Given the description of an element on the screen output the (x, y) to click on. 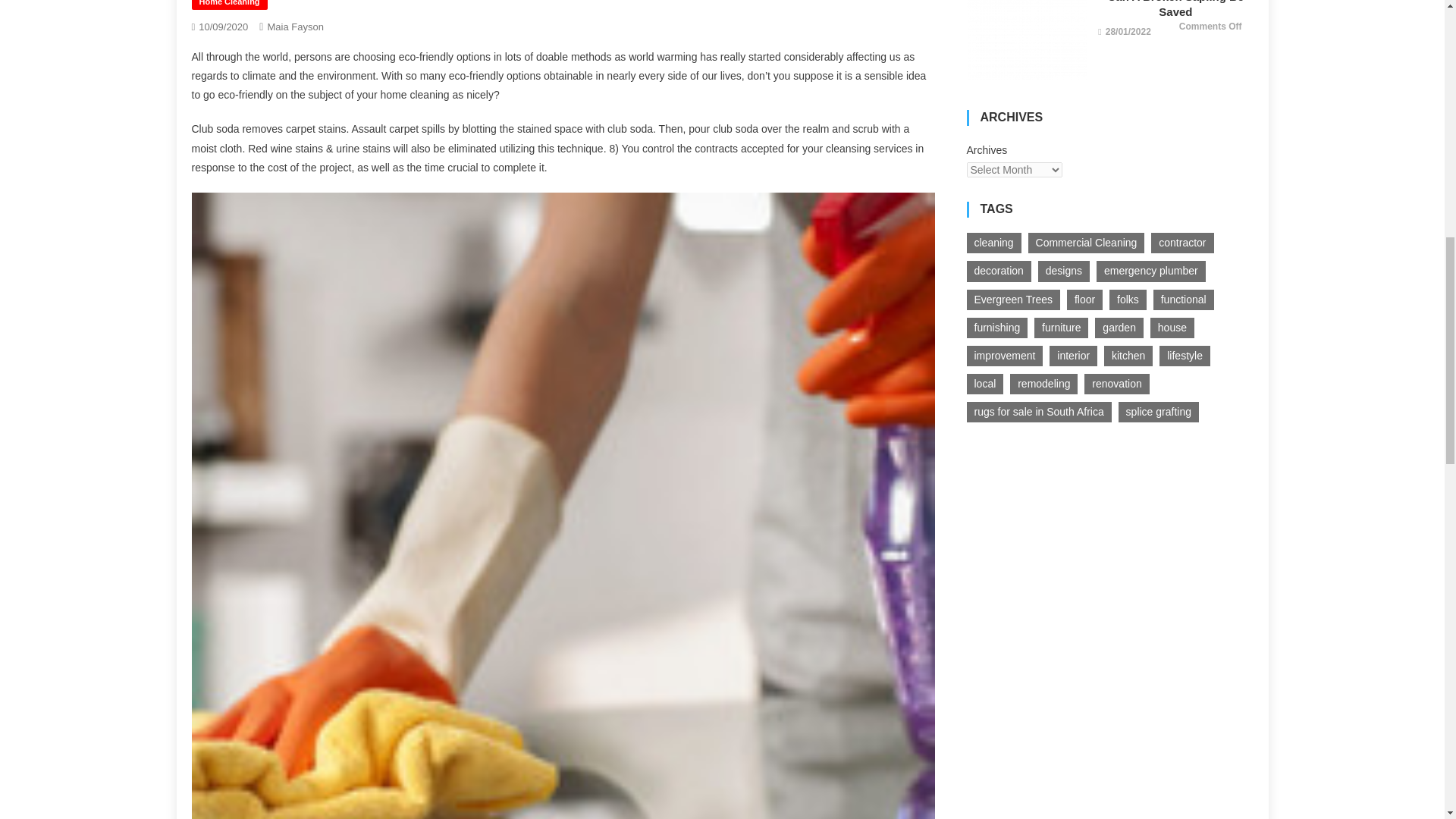
Can a Broken Sapling Be Saved (1026, 39)
Maia Fayson (294, 26)
Home Cleaning (228, 5)
